Given the description of an element on the screen output the (x, y) to click on. 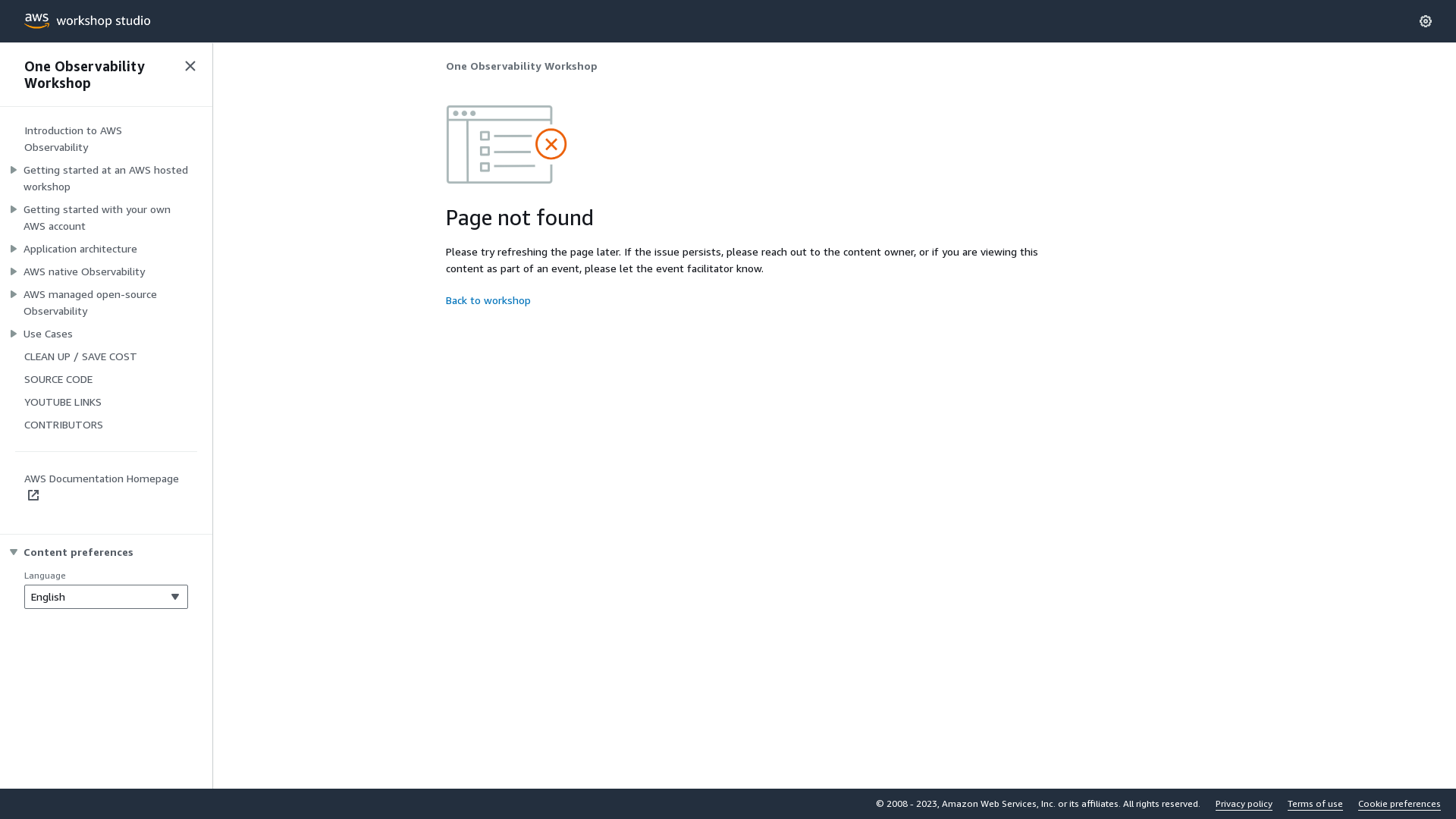
Back to workshop Element type: text (487, 299)
Privacy policy Element type: text (1243, 803)
Terms of use Element type: text (1315, 803)
One Observability Workshop Element type: text (96, 74)
CLEAN UP / SAVE COST Element type: text (80, 355)
YOUTUBE LINKS Element type: text (62, 401)
Application architecture Element type: text (80, 248)
Getting started with your own AWS account Element type: text (105, 217)
Introduction to AWS Observability Element type: text (73, 138)
AWS Documentation Homepage Element type: text (101, 486)
Getting started at an AWS hosted workshop Element type: text (105, 177)
English Element type: text (106, 596)
AWS native Observability Element type: text (83, 271)
SOURCE CODE Element type: text (58, 378)
Cookie preferences Element type: text (1399, 803)
CONTRIBUTORS Element type: text (63, 423)
AWS managed open-source Observability Element type: text (105, 302)
Use Cases Element type: text (47, 333)
